Given the description of an element on the screen output the (x, y) to click on. 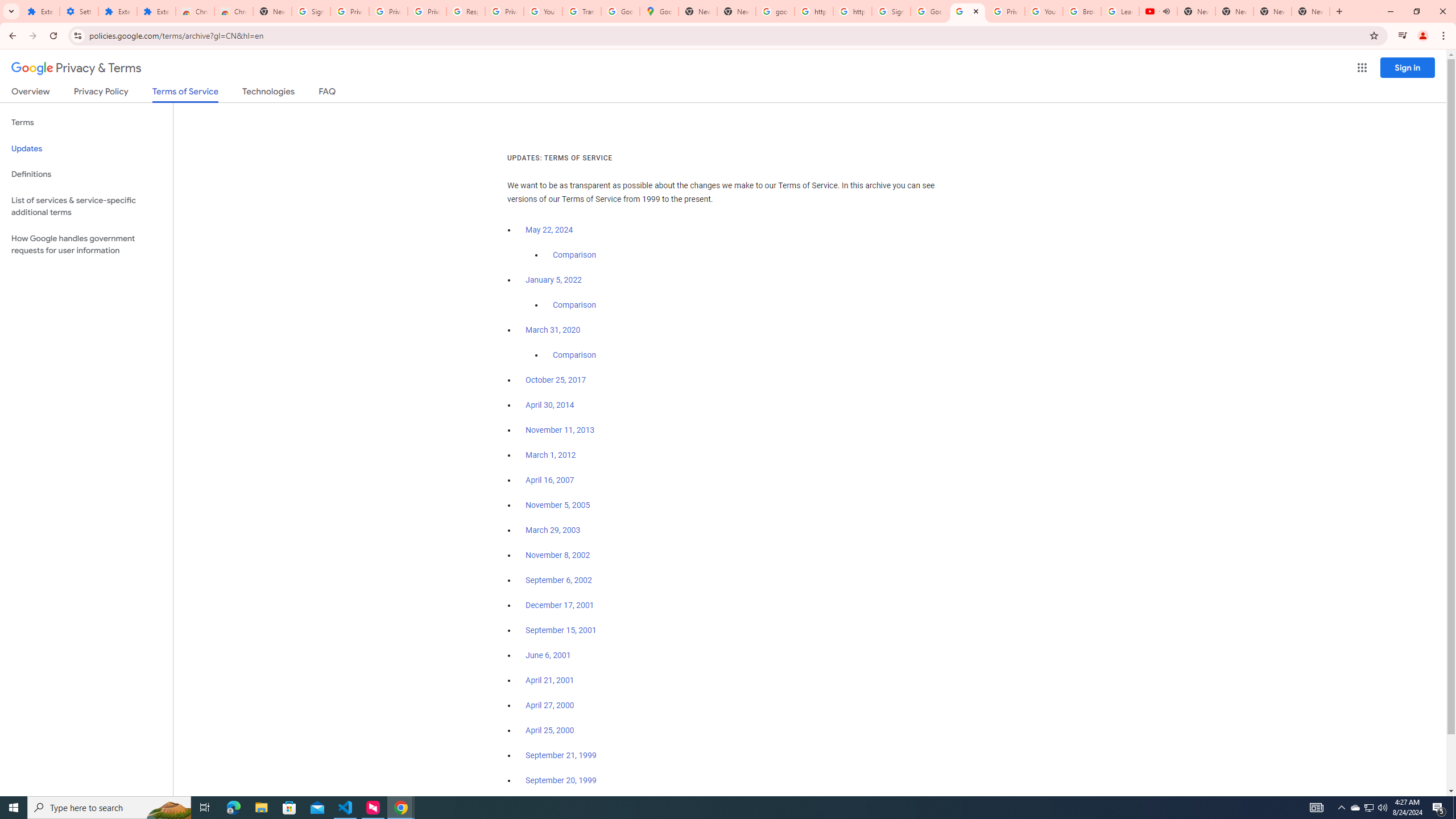
September 21, 1999 (560, 755)
New Tab (1311, 11)
January 5, 2022 (553, 280)
March 31, 2020 (552, 330)
Google Maps (659, 11)
Sign in - Google Accounts (890, 11)
